Given the description of an element on the screen output the (x, y) to click on. 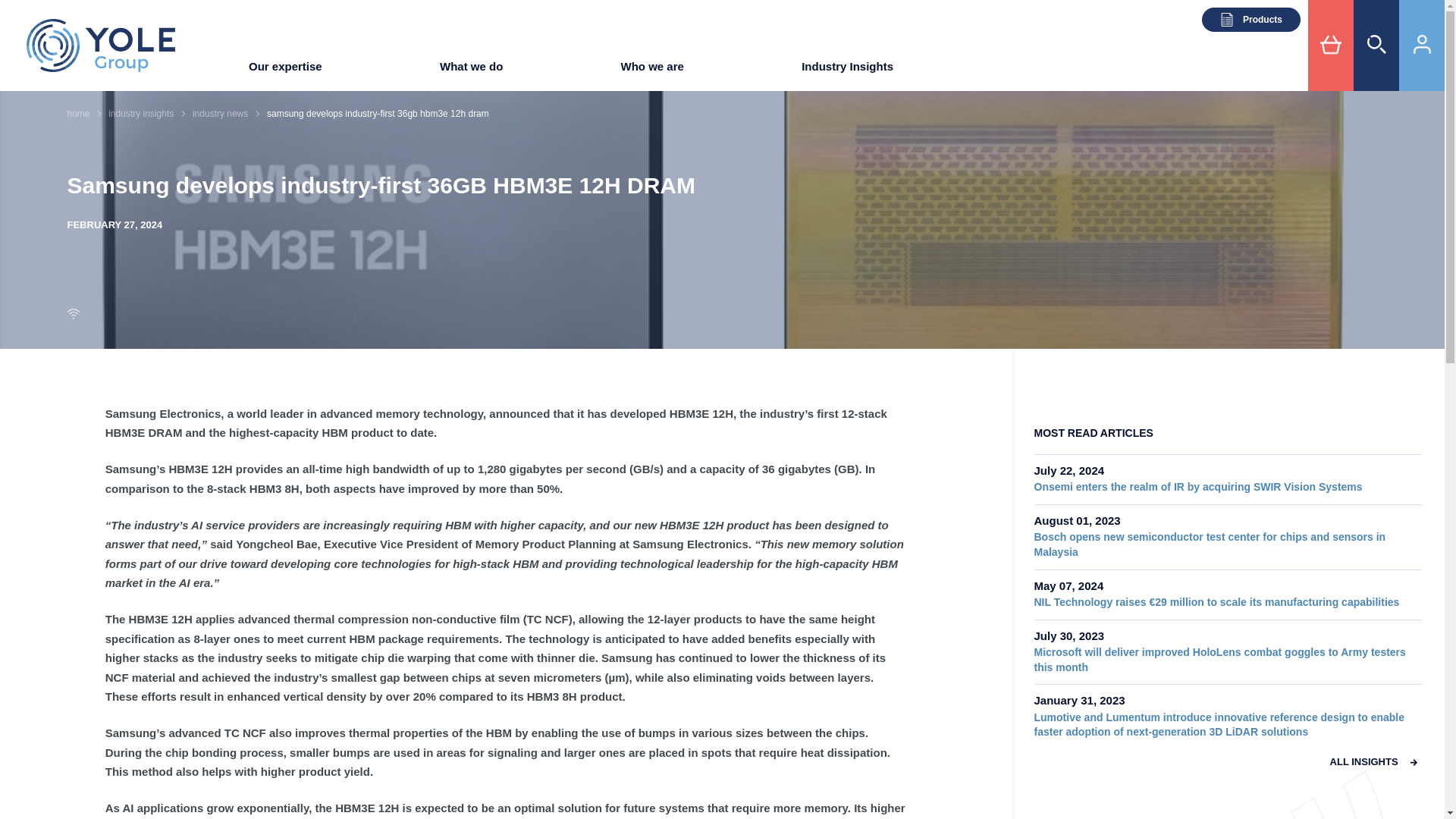
What we do (470, 71)
Our expertise (284, 71)
Products (1251, 19)
Who we are (652, 71)
